Given the description of an element on the screen output the (x, y) to click on. 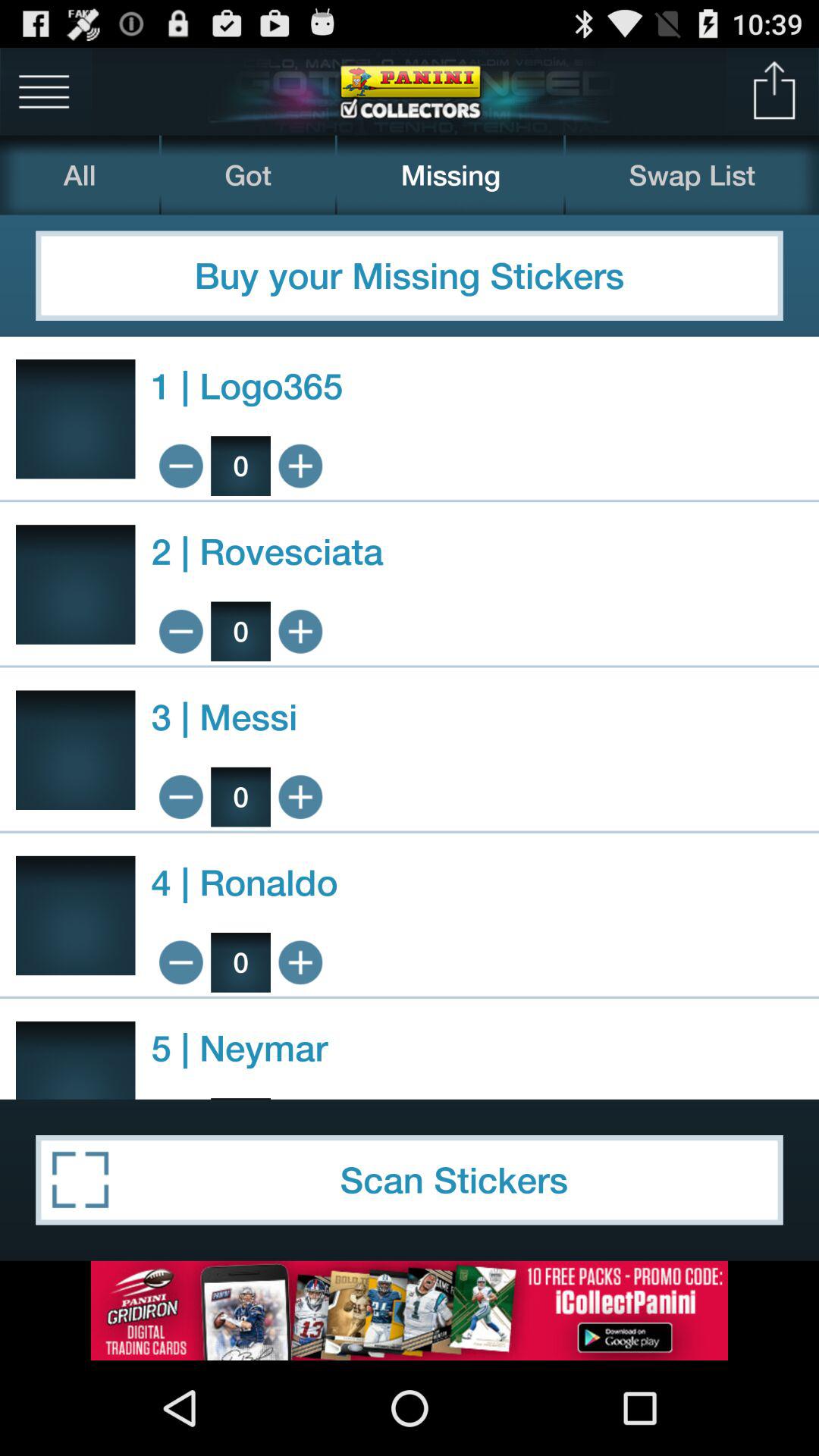
share (774, 91)
